Given the description of an element on the screen output the (x, y) to click on. 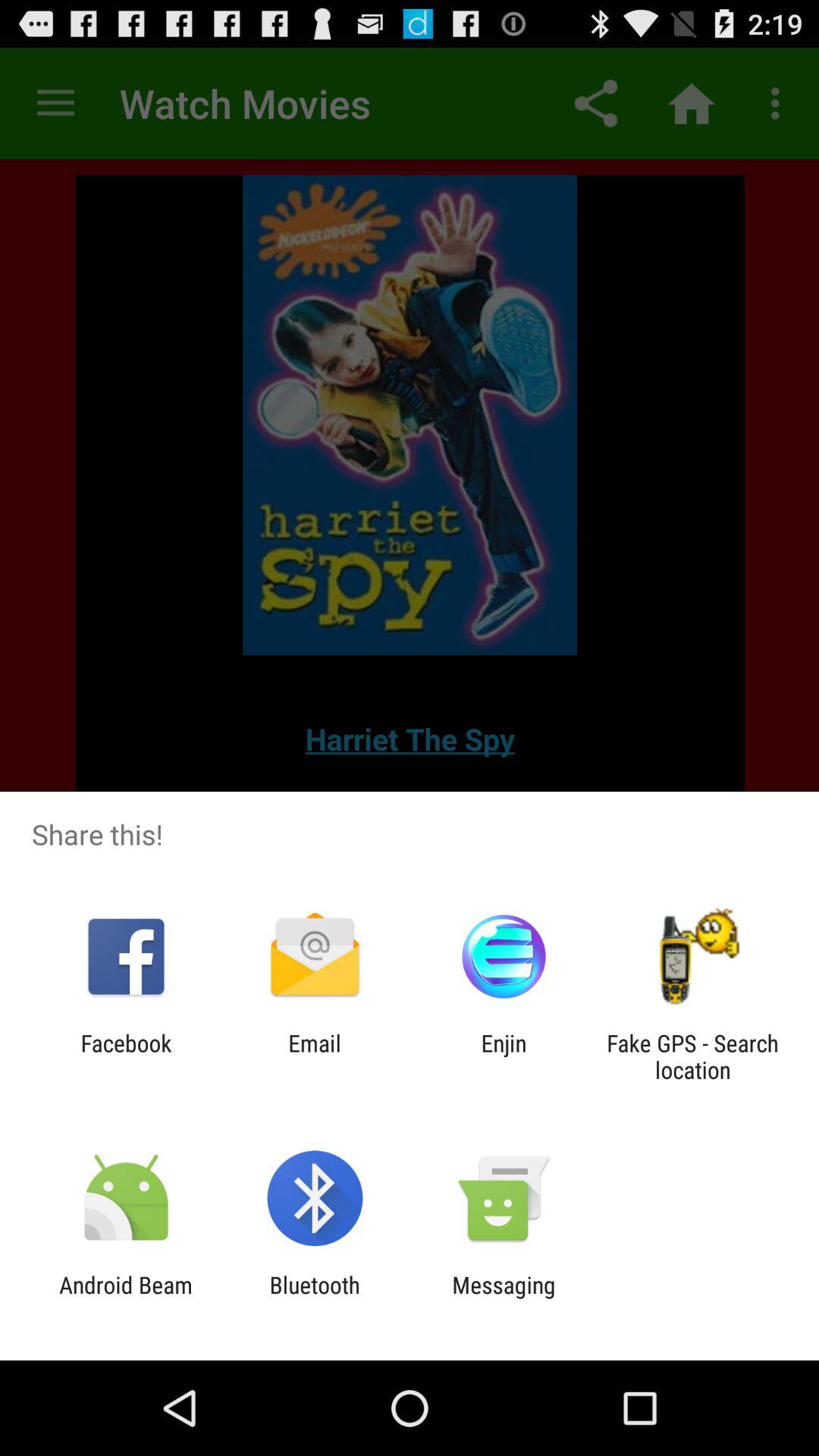
press app next to email item (125, 1056)
